Given the description of an element on the screen output the (x, y) to click on. 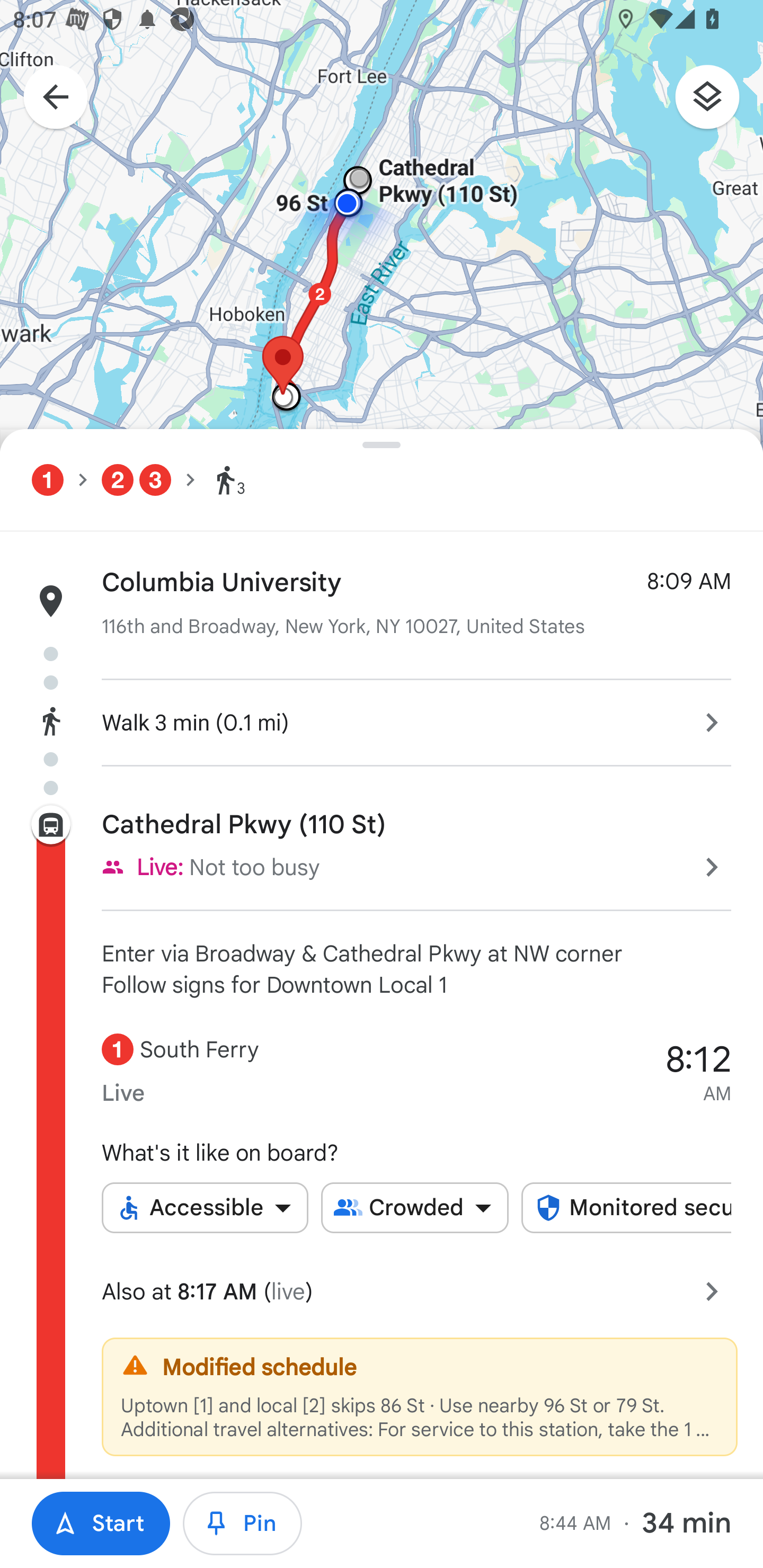
Back (46, 98)
Layers (716, 103)
Walk 3 min (0.1 mi) Zoom map (381, 719)
Accessible Accessible Accessible (204, 1207)
Crowded Crowded Crowded (414, 1207)
Re-center map to your location (702, 1304)
Pin trip Pin Pin trip (242, 1522)
